Given the description of an element on the screen output the (x, y) to click on. 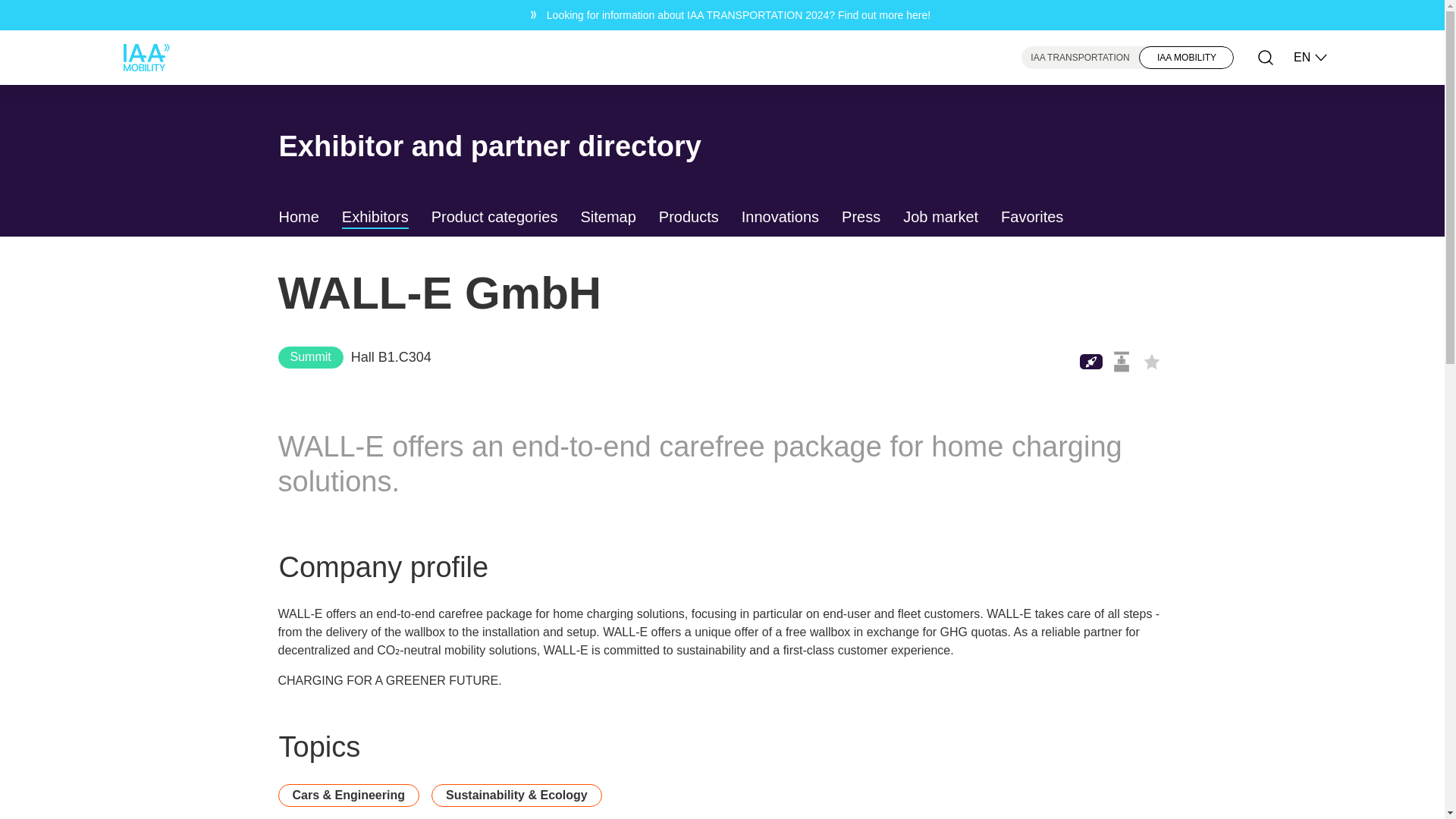
Product categories (493, 217)
Innovations (779, 217)
Favorites (1031, 217)
Hall B1.C304 (390, 356)
Home (298, 217)
Press (860, 217)
Products (689, 217)
Exhibitors (375, 217)
Press (860, 217)
Home (298, 217)
Exhibitors (375, 217)
Sitemap (606, 217)
Job market (940, 217)
Product categories (493, 217)
Innovations (779, 217)
